Given the description of an element on the screen output the (x, y) to click on. 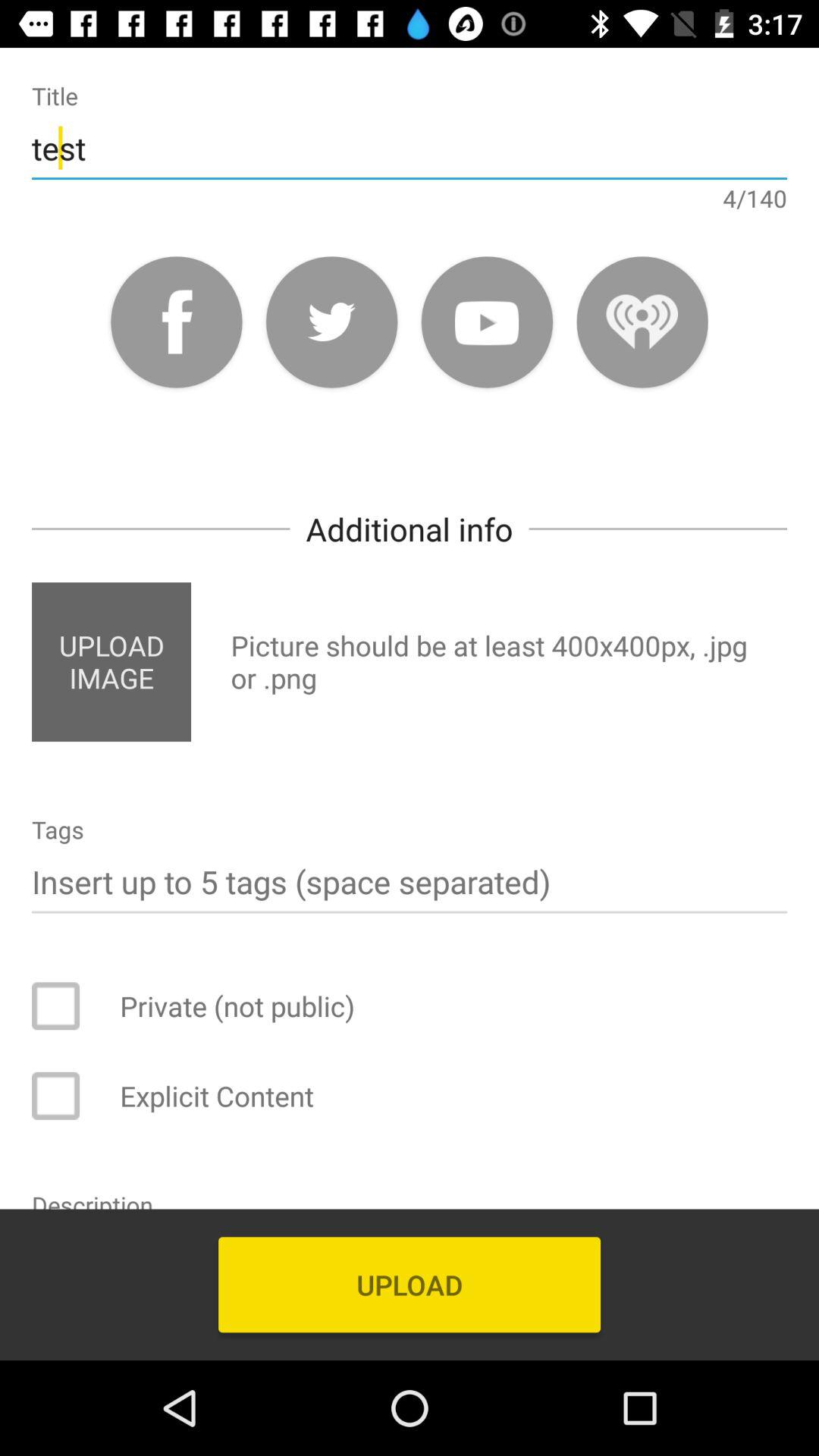
answer box (65, 1095)
